Given the description of an element on the screen output the (x, y) to click on. 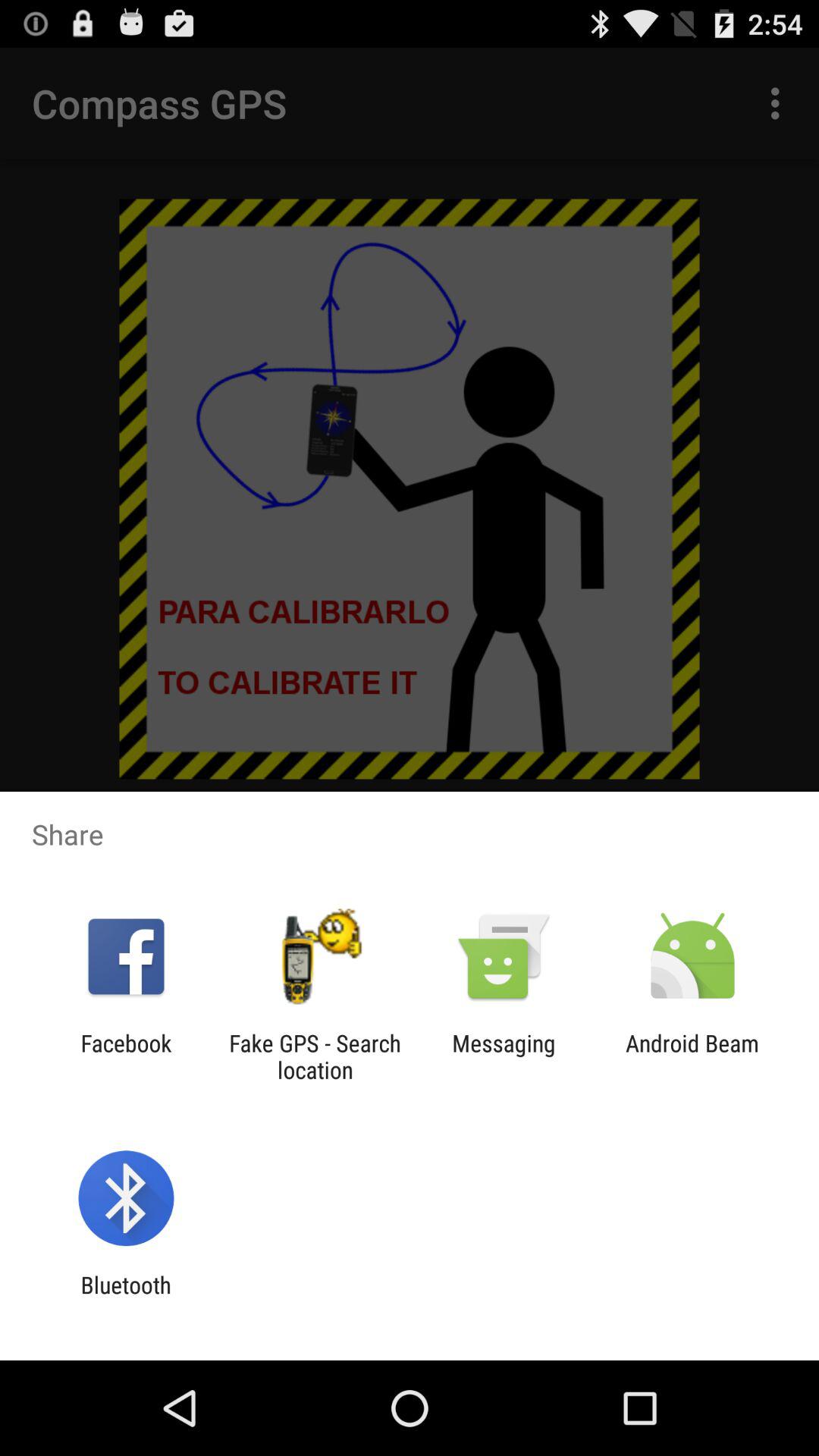
select icon next to the android beam icon (503, 1056)
